Given the description of an element on the screen output the (x, y) to click on. 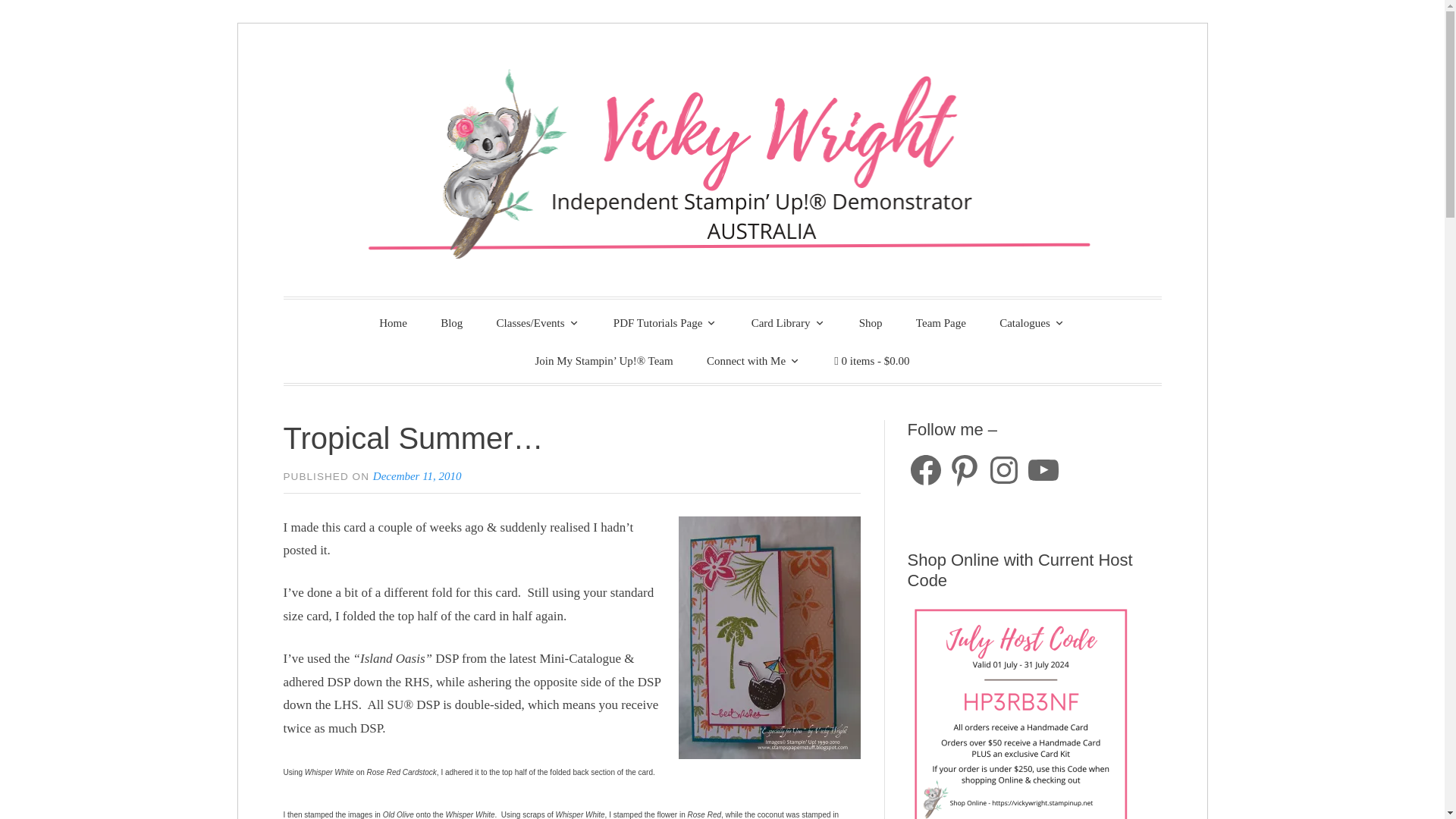
Team Page (941, 323)
Home (393, 323)
Catalogues (1032, 322)
Vicky Wright (439, 320)
Connect with Me (753, 360)
Shop Online with Current Host Code (1021, 710)
Shop (871, 323)
December 11, 2010 (416, 476)
Start shopping (871, 361)
Card Library (788, 322)
Blog (451, 323)
PDF Tutorials Page (665, 322)
